Given the description of an element on the screen output the (x, y) to click on. 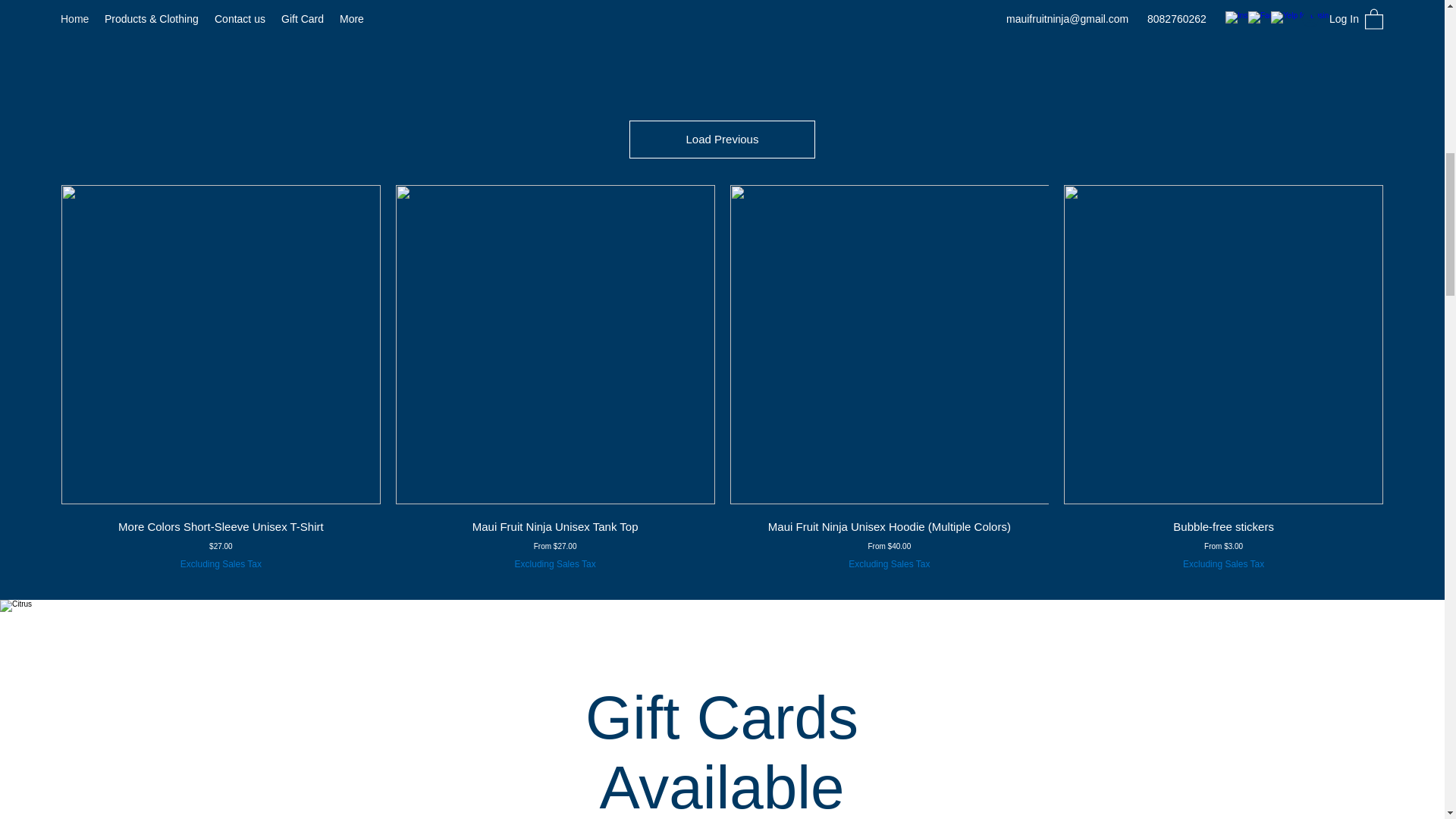
Log In (1325, 18)
Load Previous (720, 139)
Gift Card (302, 18)
Home (74, 18)
Contact us (239, 18)
